Given the description of an element on the screen output the (x, y) to click on. 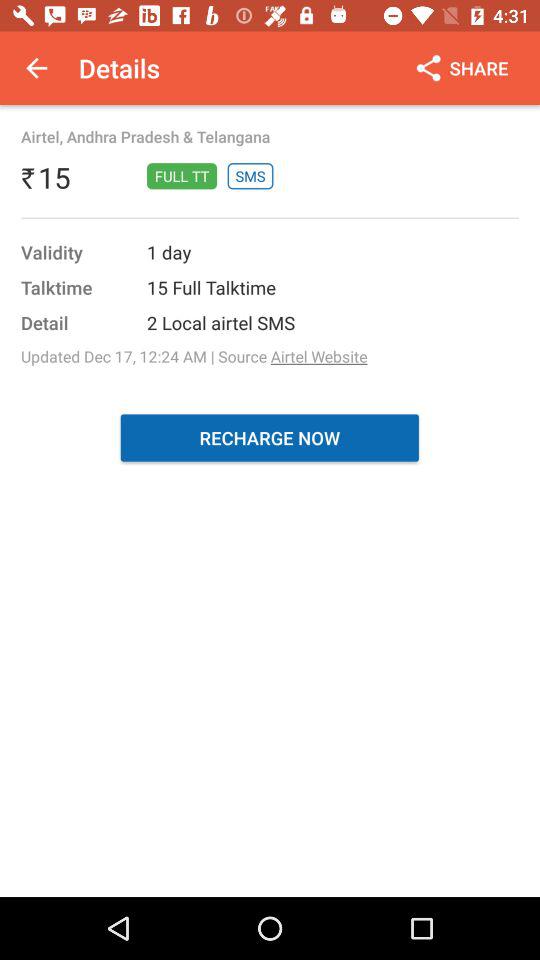
scroll until recharge now icon (269, 437)
